Given the description of an element on the screen output the (x, y) to click on. 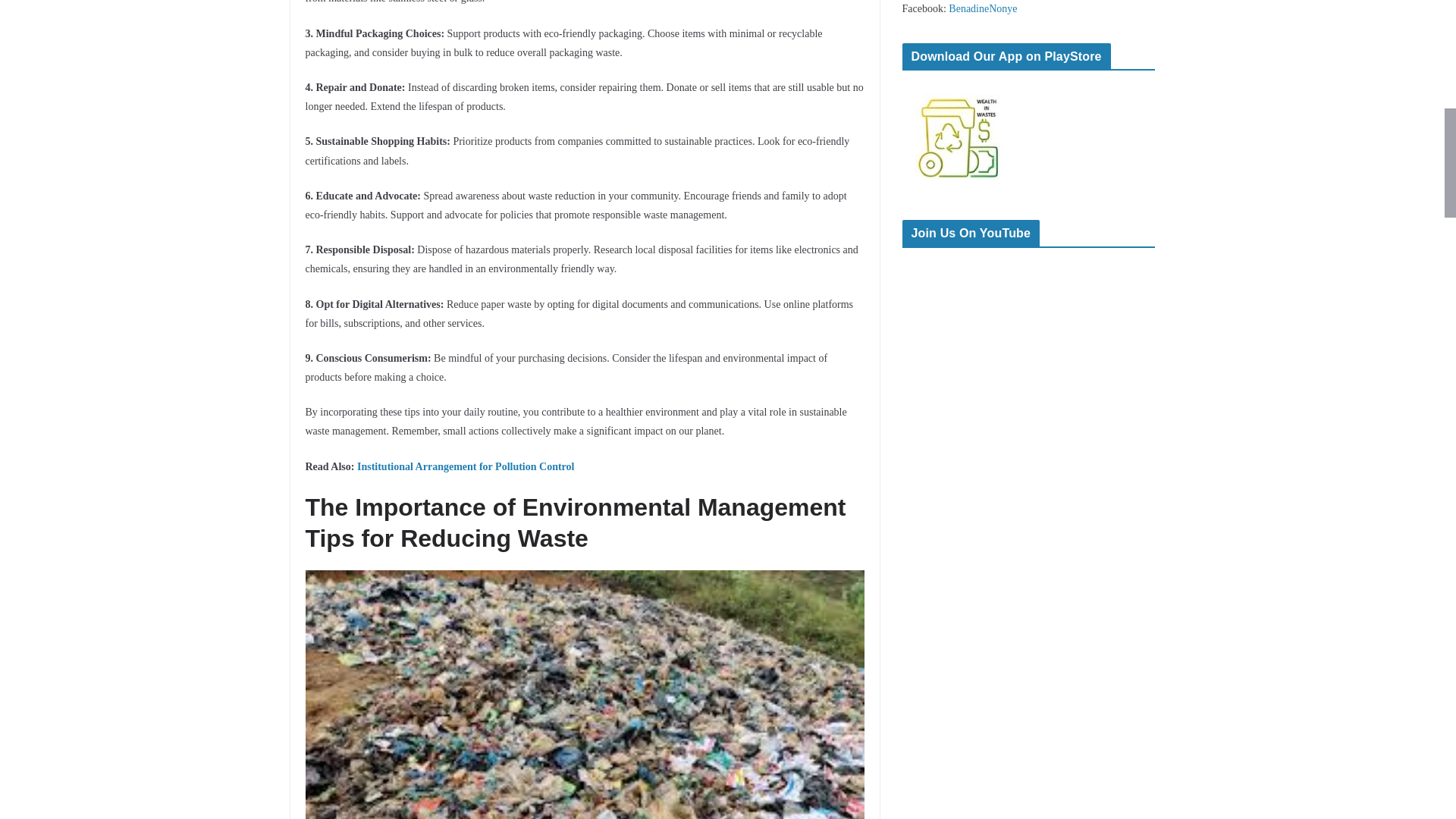
Institutional Arrangement for Pollution Control (465, 466)
